Given the description of an element on the screen output the (x, y) to click on. 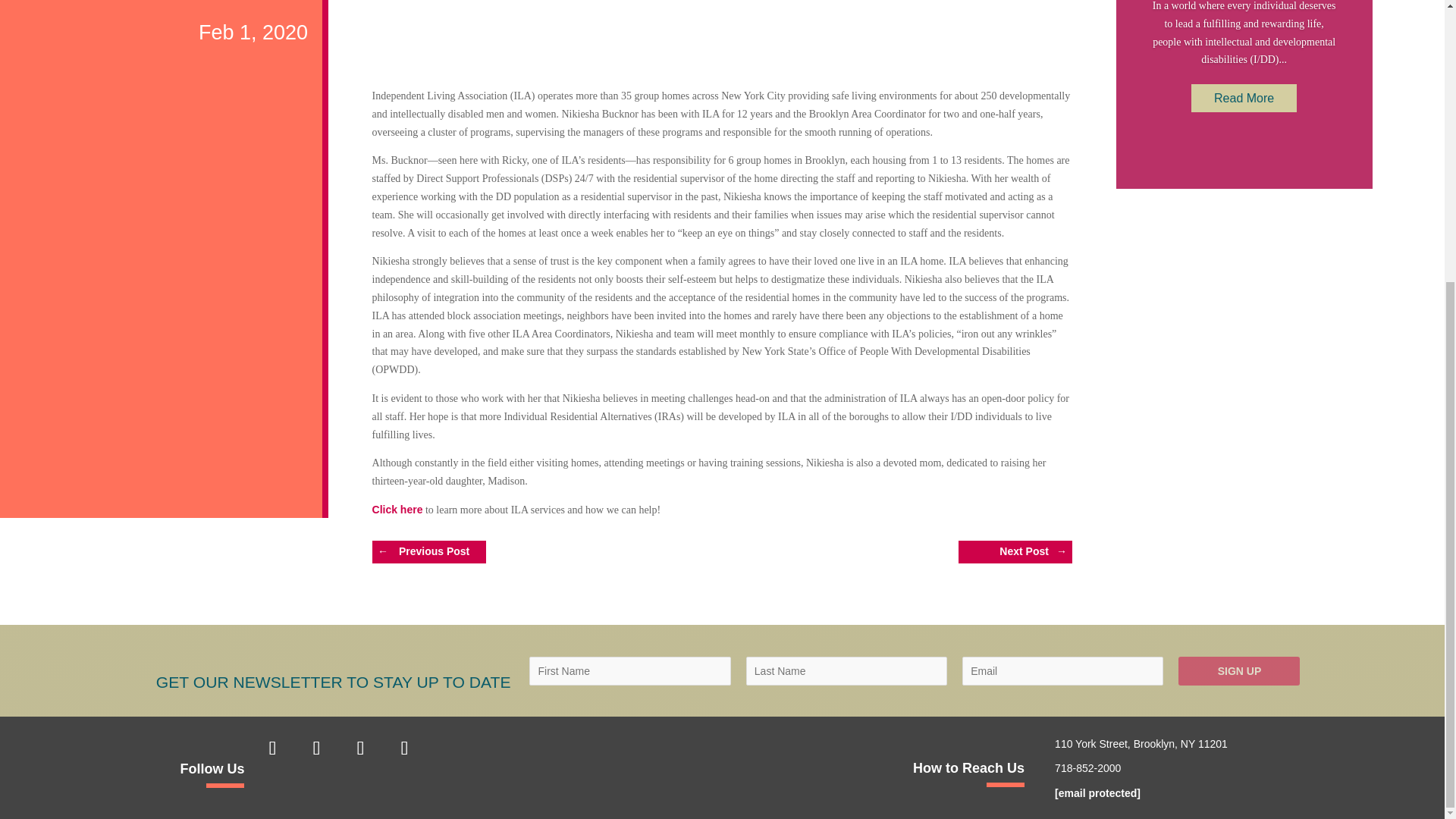
Follow on Instagram (359, 748)
Follow on LinkedIn (404, 748)
Click here (397, 509)
Follow on X (315, 748)
SIGN UP (1238, 670)
Read More (1244, 98)
Follow on Facebook (272, 748)
